Given the description of an element on the screen output the (x, y) to click on. 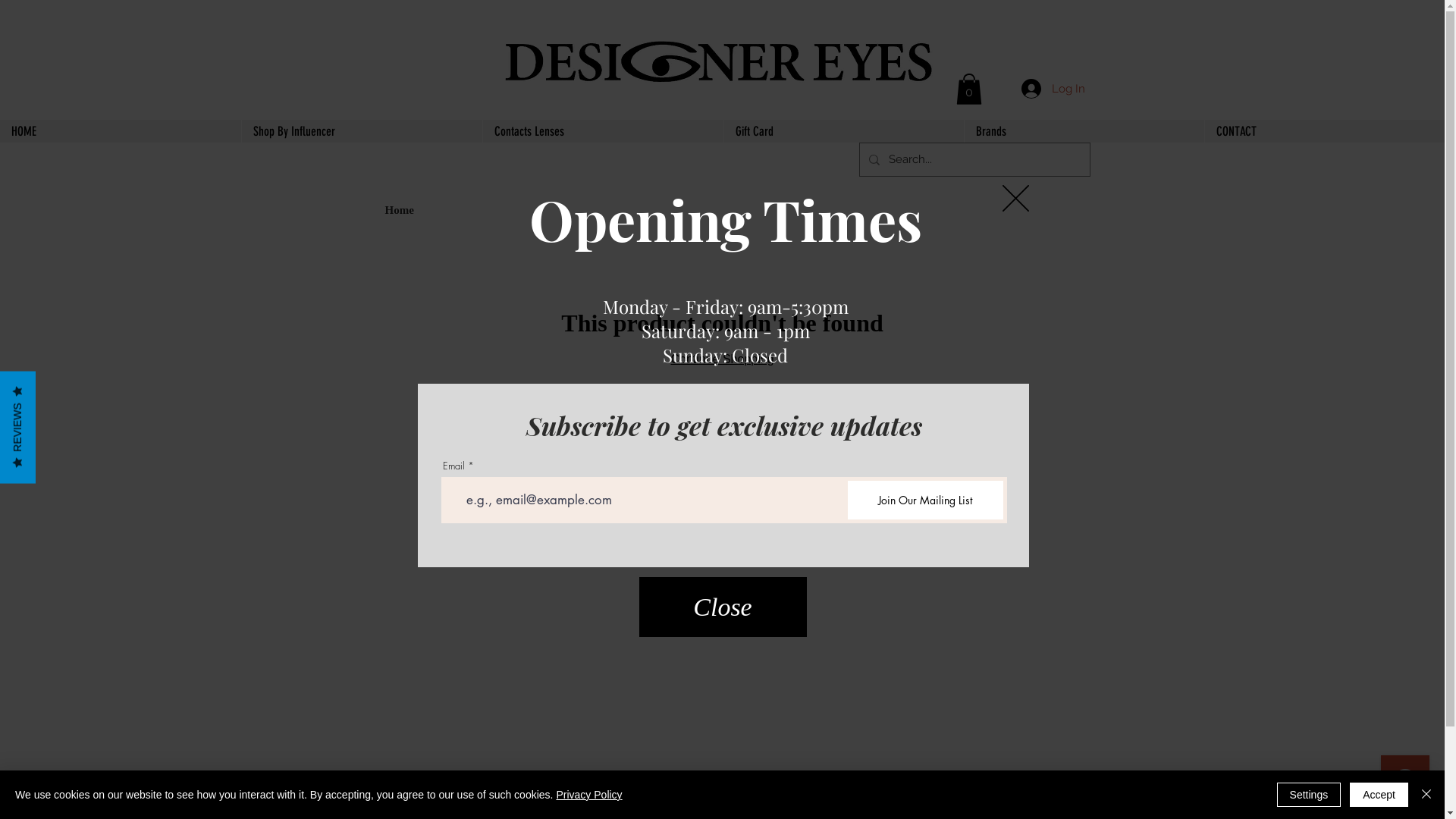
Home Element type: text (399, 209)
Log In Element type: text (1052, 88)
Gift Card Element type: text (843, 130)
Back to site Element type: hover (1015, 198)
Privacy Policy Element type: text (588, 794)
Join Our Mailing List Element type: text (924, 499)
0 Element type: text (968, 88)
 REVIEWS  Element type: text (56, 388)
Continue Shopping Element type: text (721, 358)
Shop By Influencer Element type: text (361, 130)
Brands Element type: text (1083, 130)
HOME Element type: text (120, 130)
CONTACT Element type: text (1324, 130)
Contacts Lenses Element type: text (602, 130)
Accept Element type: text (1378, 794)
Settings Element type: text (1309, 794)
